Given the description of an element on the screen output the (x, y) to click on. 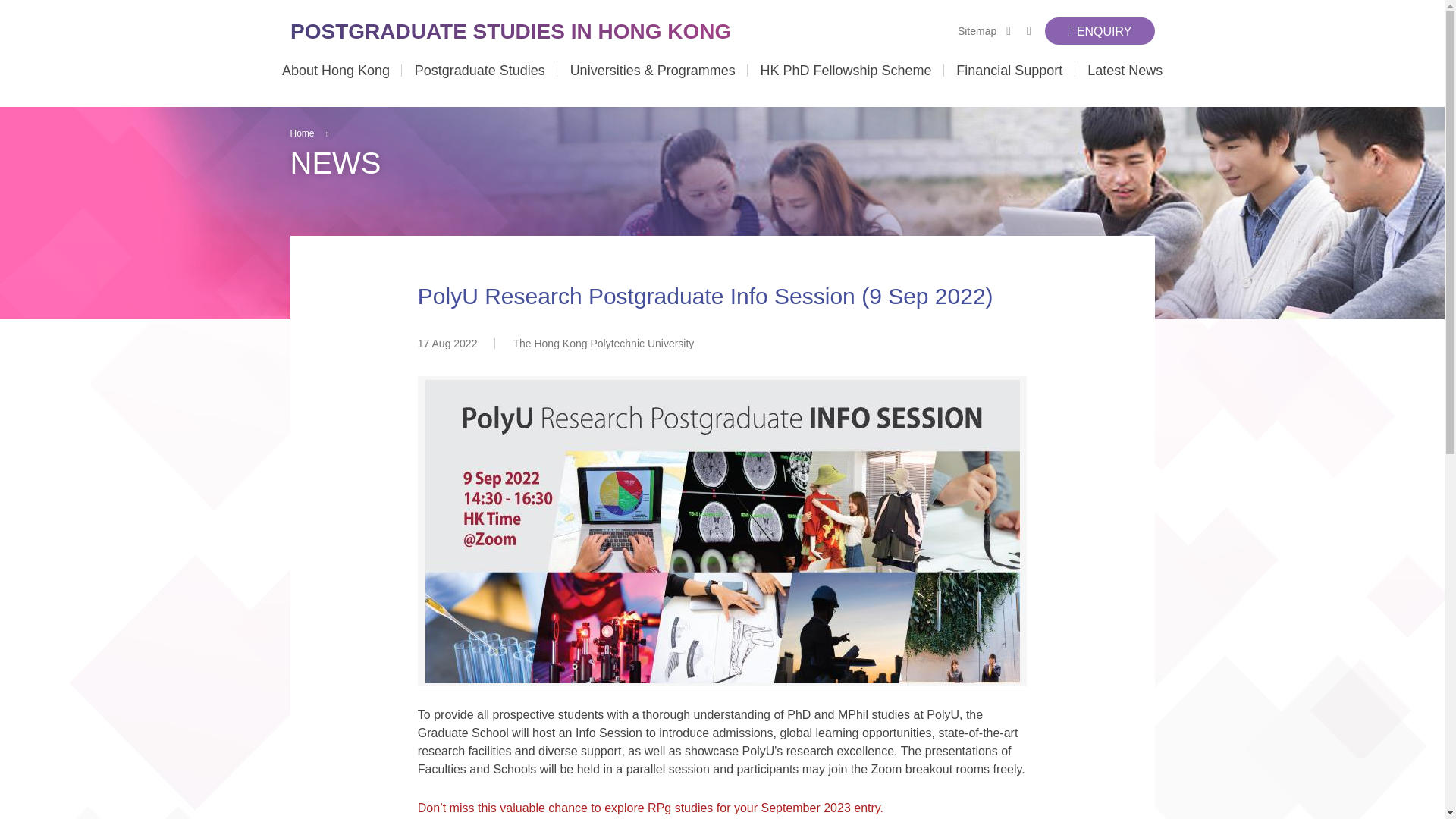
Home (512, 30)
HK PhD Fellowship Scheme (845, 85)
ENQUIRY (1099, 31)
Financial Support (1009, 85)
About Hong Kong (336, 85)
Postgraduate Studies (479, 85)
Home (301, 132)
Latest News (1125, 85)
Sitemap (976, 30)
